Given the description of an element on the screen output the (x, y) to click on. 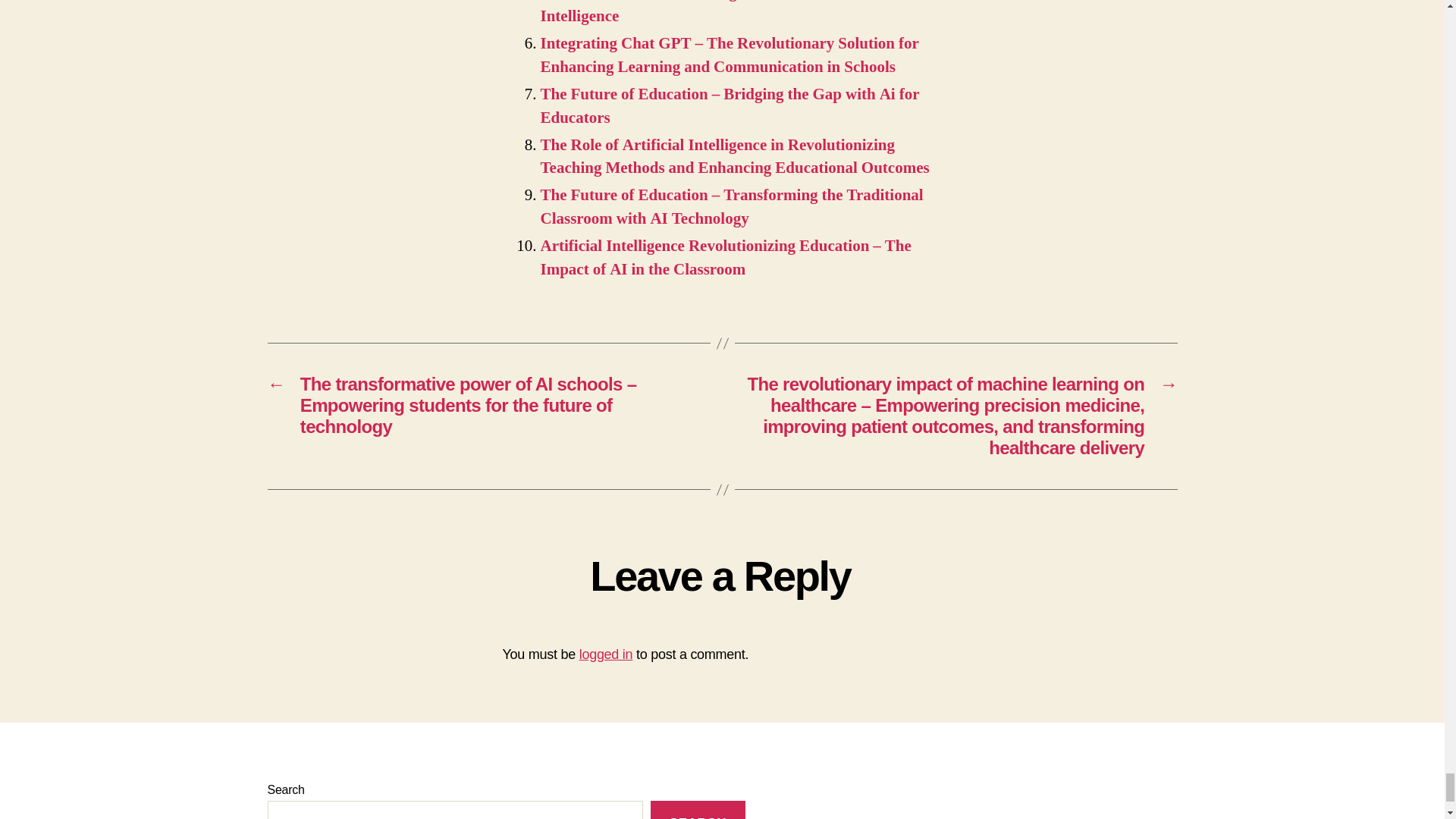
logged in (606, 654)
SEARCH (697, 809)
